Given the description of an element on the screen output the (x, y) to click on. 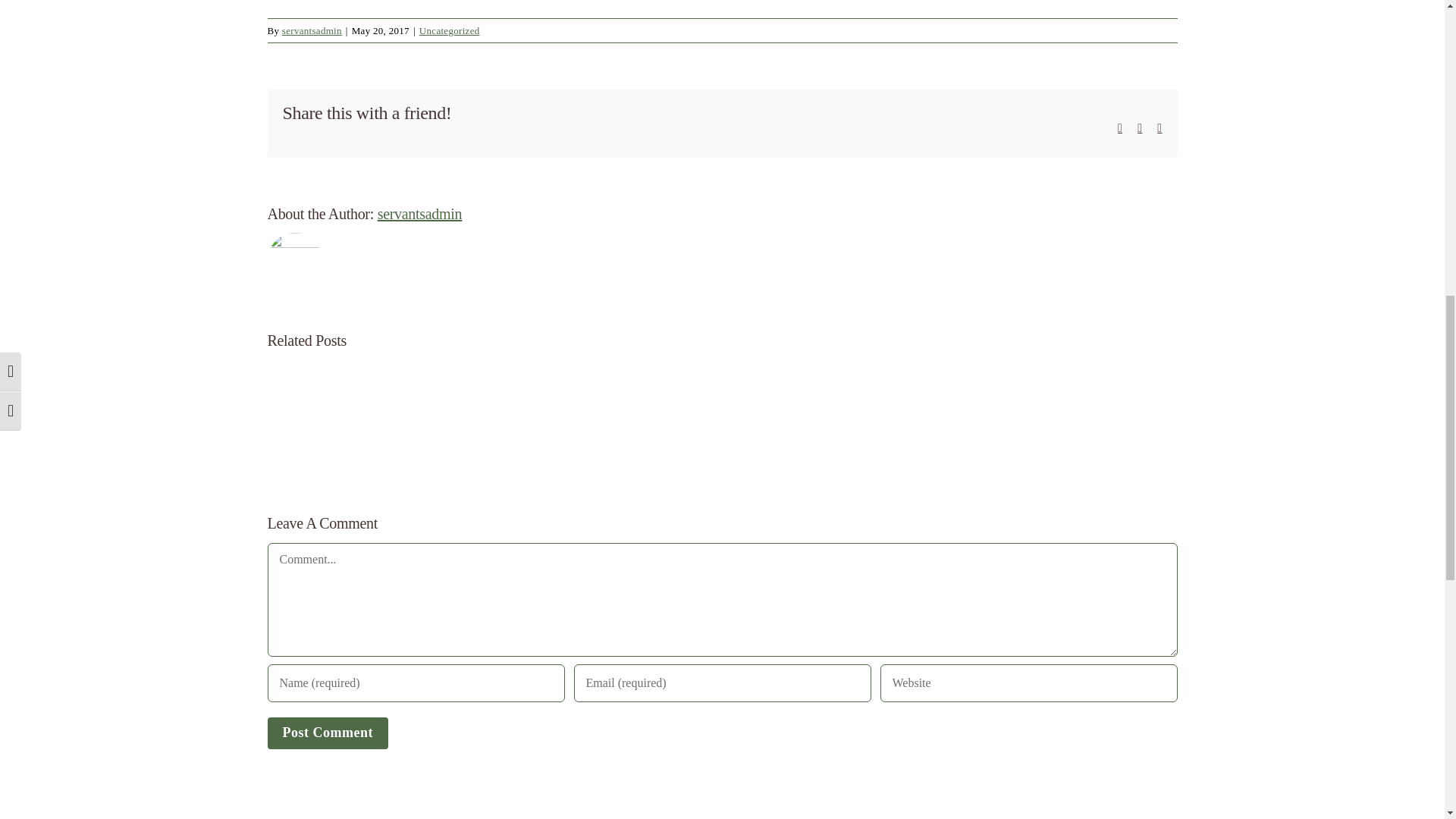
servantsadmin (420, 213)
servantsadmin (312, 30)
Post Comment (326, 733)
Uncategorized (449, 30)
